Given the description of an element on the screen output the (x, y) to click on. 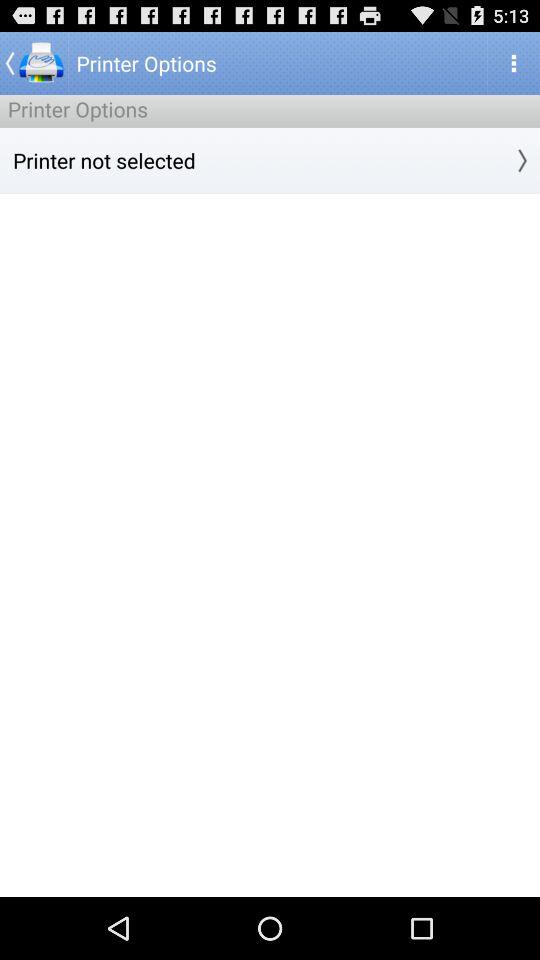
choose the app above the printer options item (34, 62)
